Given the description of an element on the screen output the (x, y) to click on. 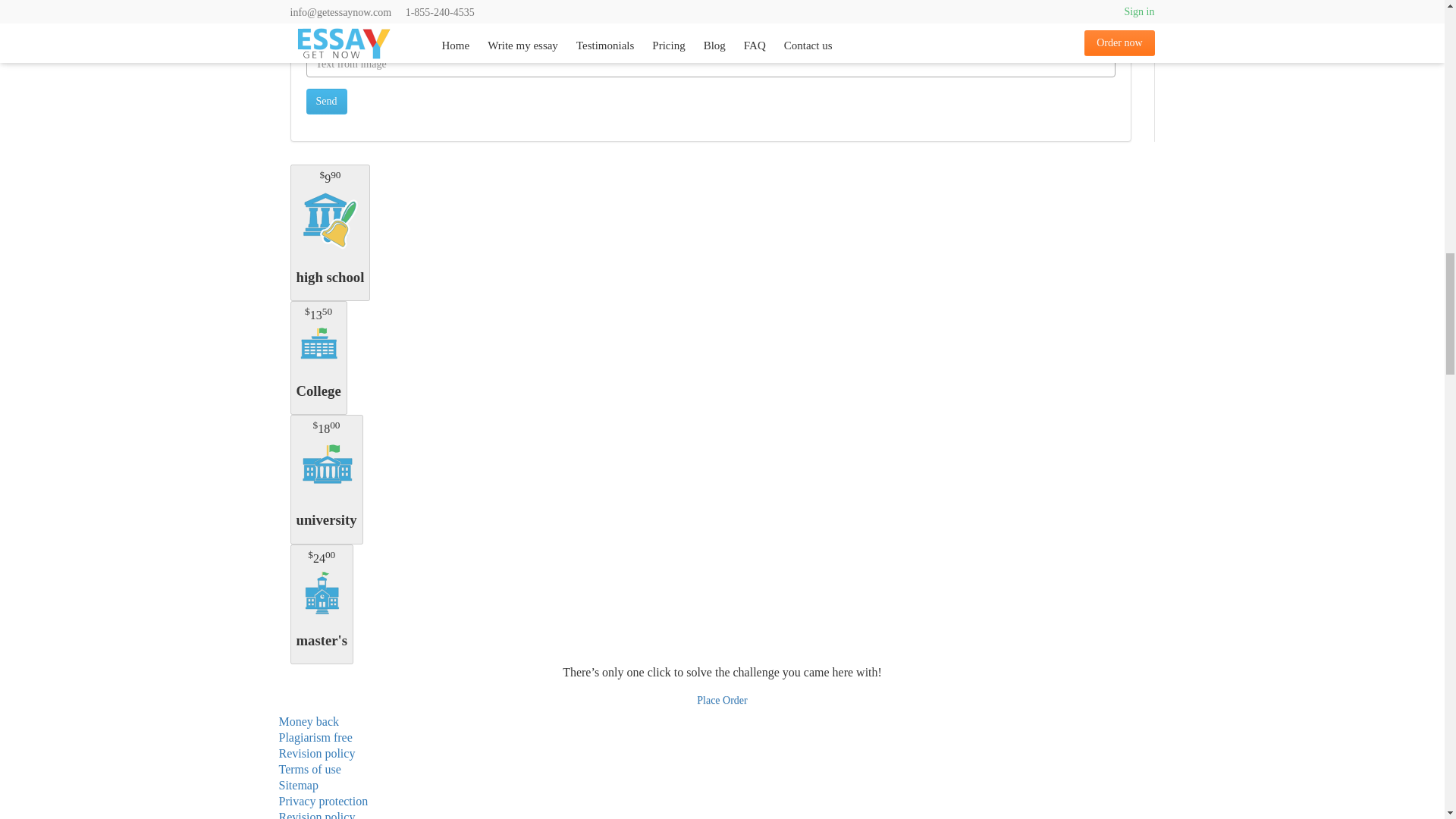
Money back (309, 721)
Plagiarism free (315, 737)
Send (326, 101)
Place Order (722, 700)
Order Now (722, 700)
